Given the description of an element on the screen output the (x, y) to click on. 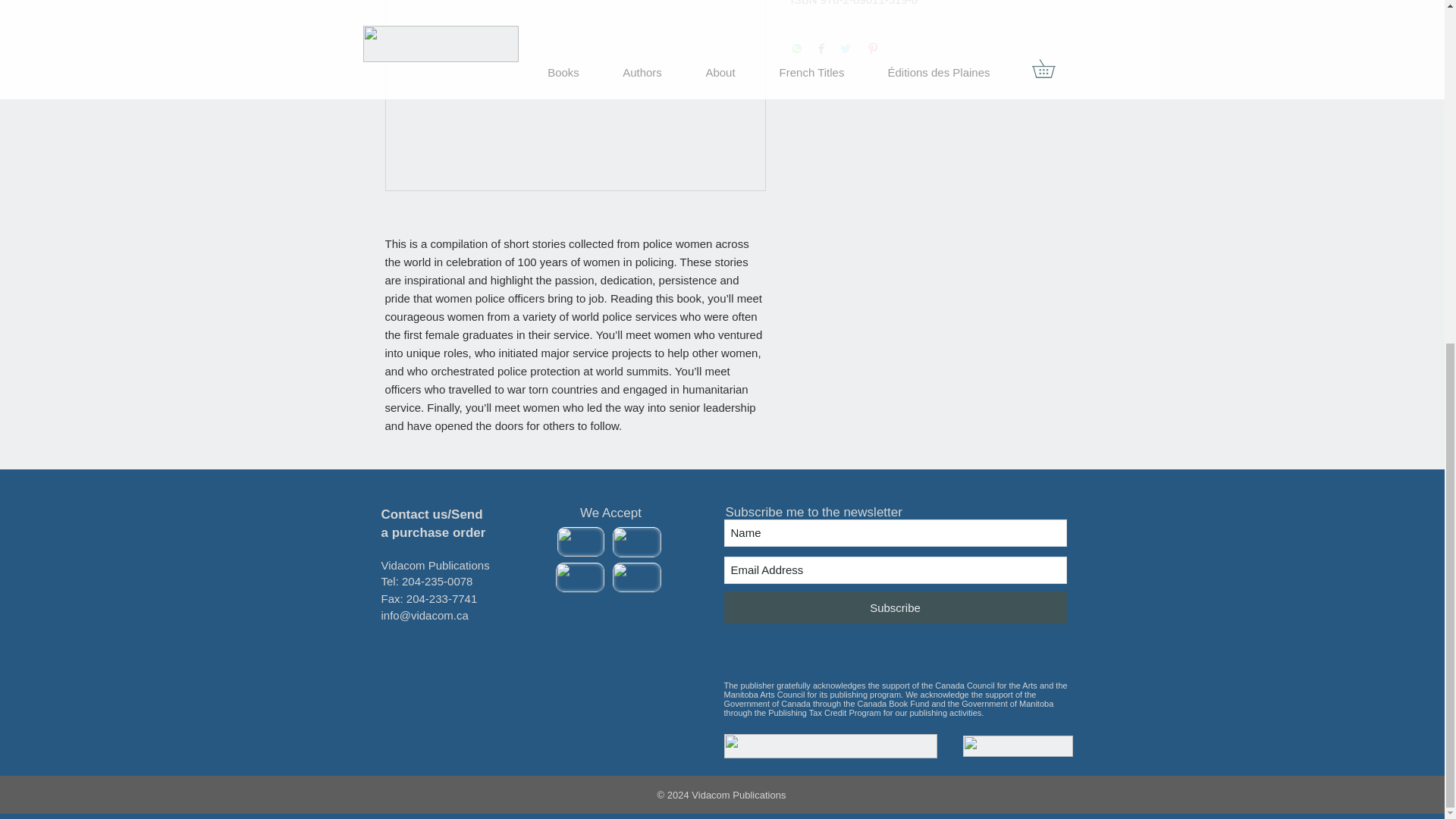
Subscribe (894, 607)
